Given the description of an element on the screen output the (x, y) to click on. 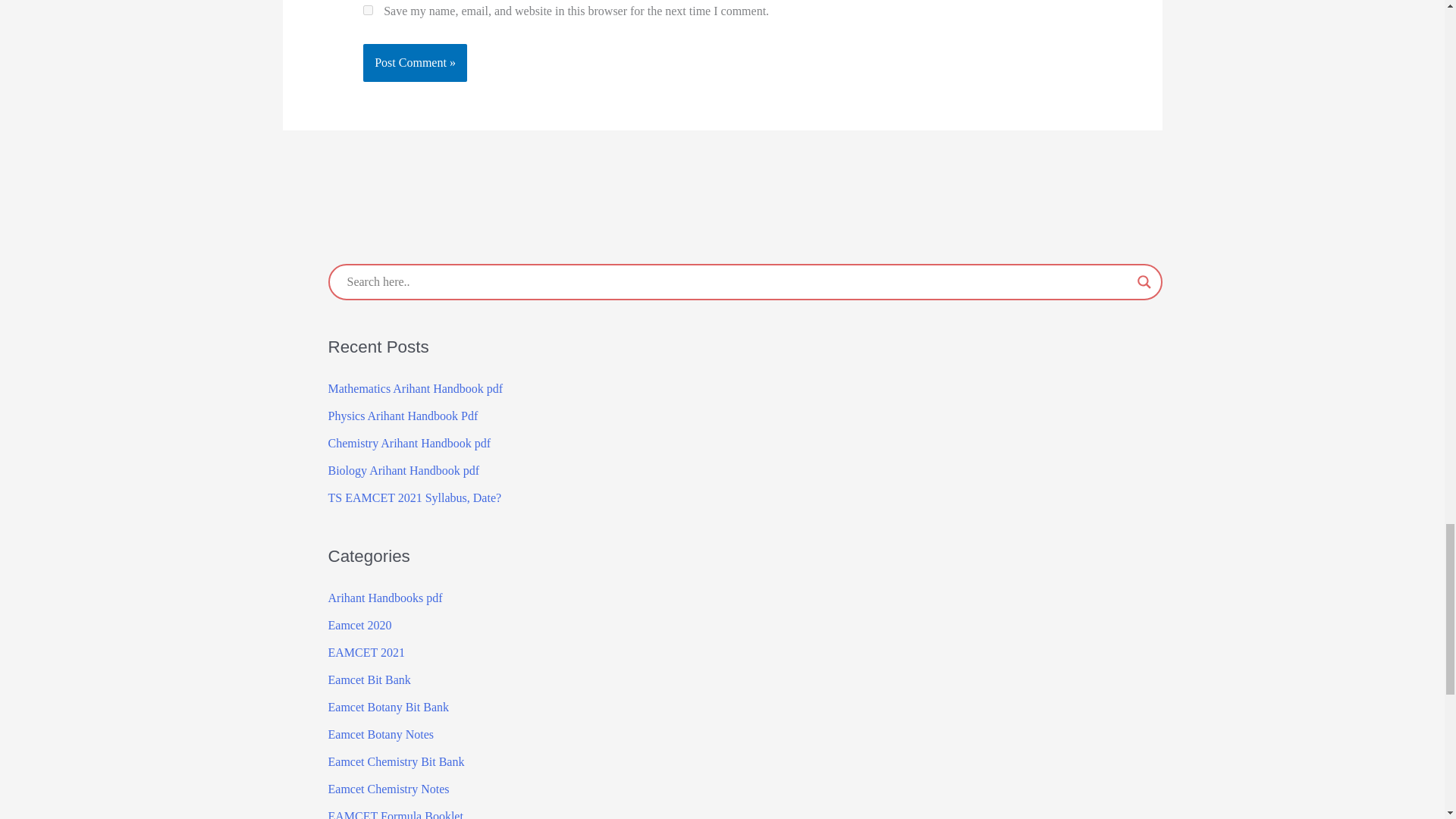
Eamcet Bit Bank (368, 679)
EAMCET 2021 (365, 652)
Eamcet Botany Bit Bank (387, 707)
TS EAMCET 2021 Syllabus, Date? (413, 497)
Eamcet Botany Notes (380, 734)
Biology Arihant Handbook pdf (403, 470)
yes (367, 9)
Eamcet 2020 (359, 625)
Mathematics Arihant Handbook pdf (414, 388)
Physics Arihant Handbook Pdf (402, 415)
Arihant Handbooks pdf (384, 597)
Chemistry Arihant Handbook pdf (408, 442)
